Given the description of an element on the screen output the (x, y) to click on. 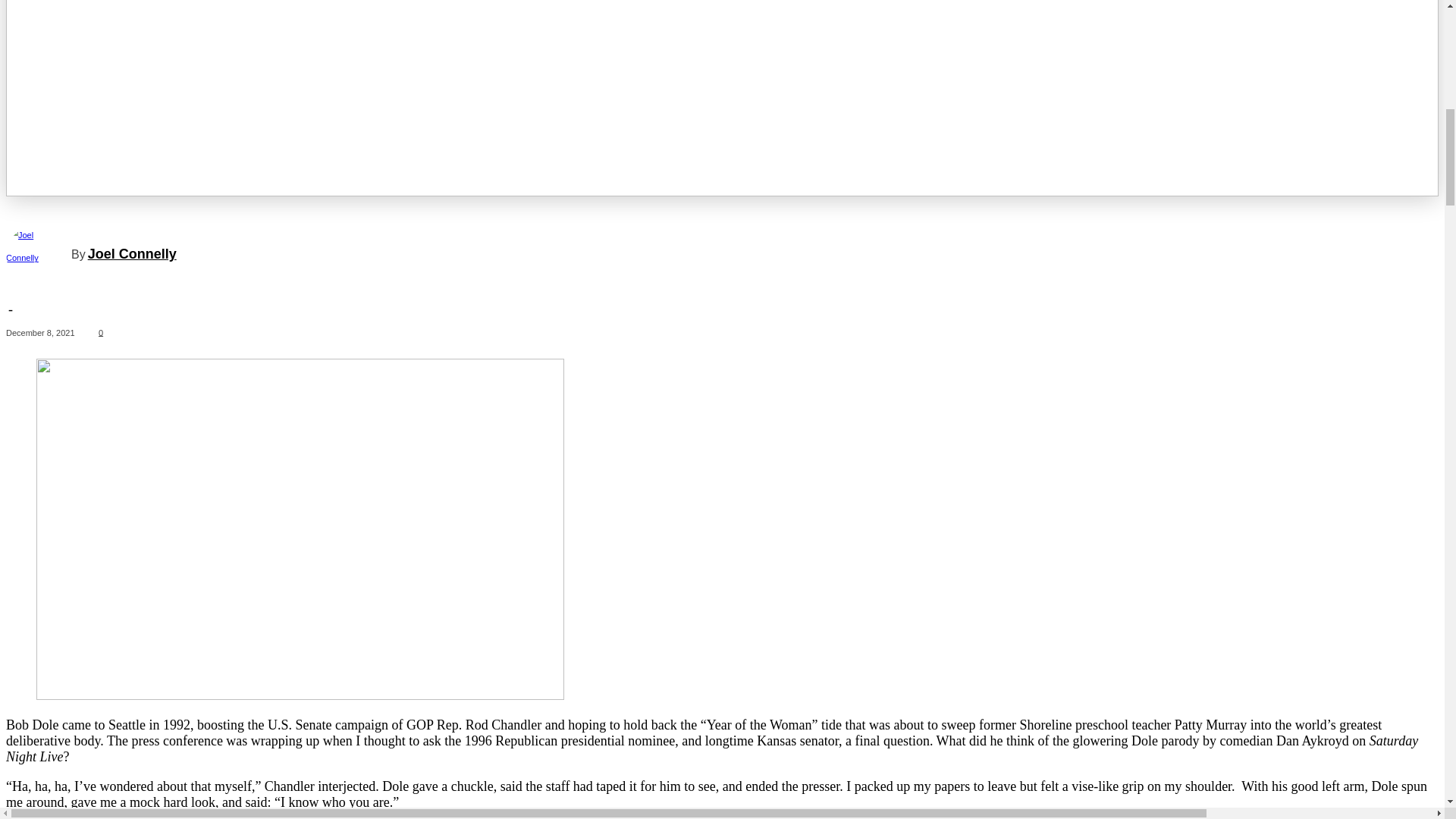
Joel Connelly (38, 253)
